Given the description of an element on the screen output the (x, y) to click on. 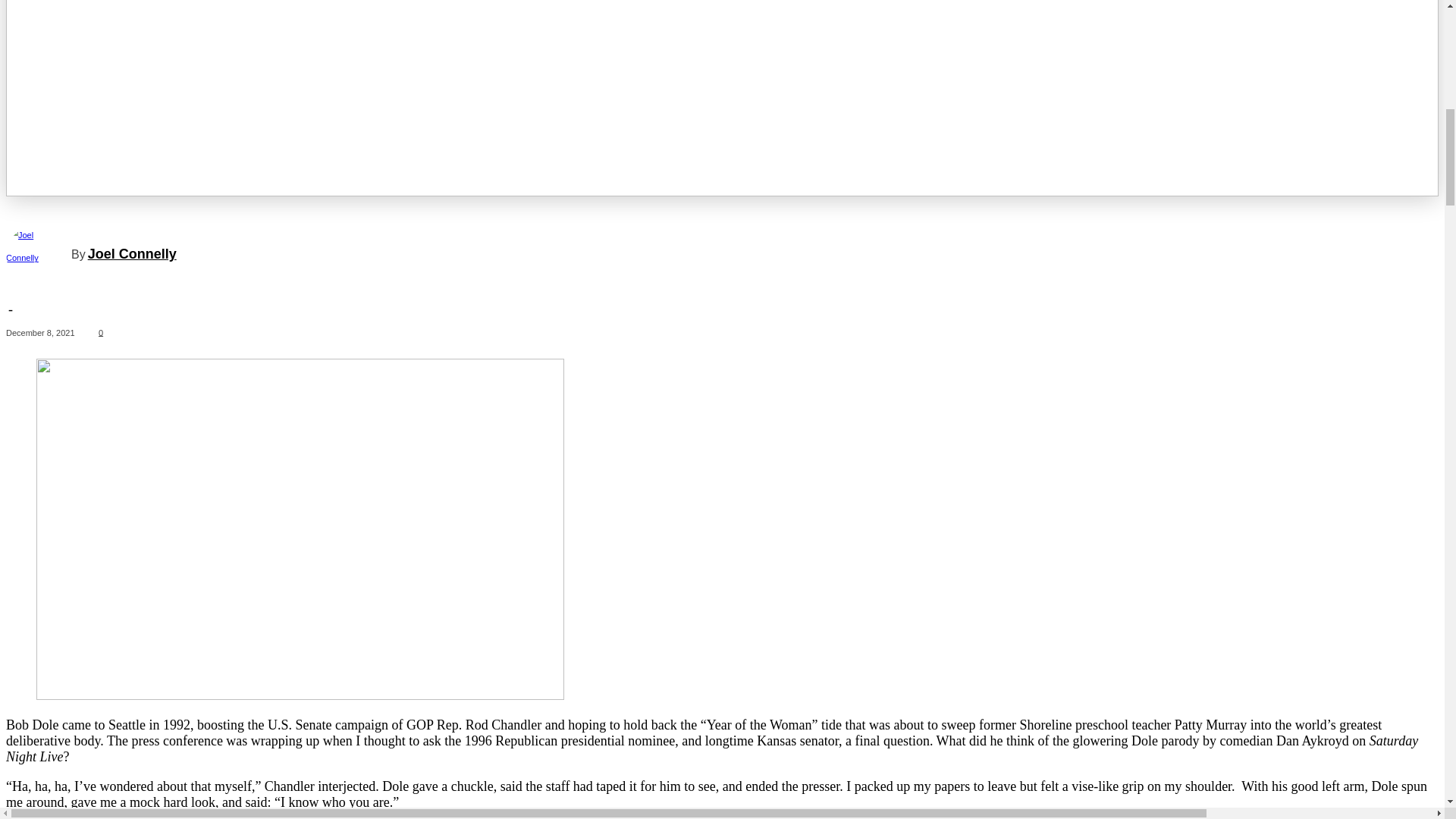
Joel Connelly (38, 253)
